Given the description of an element on the screen output the (x, y) to click on. 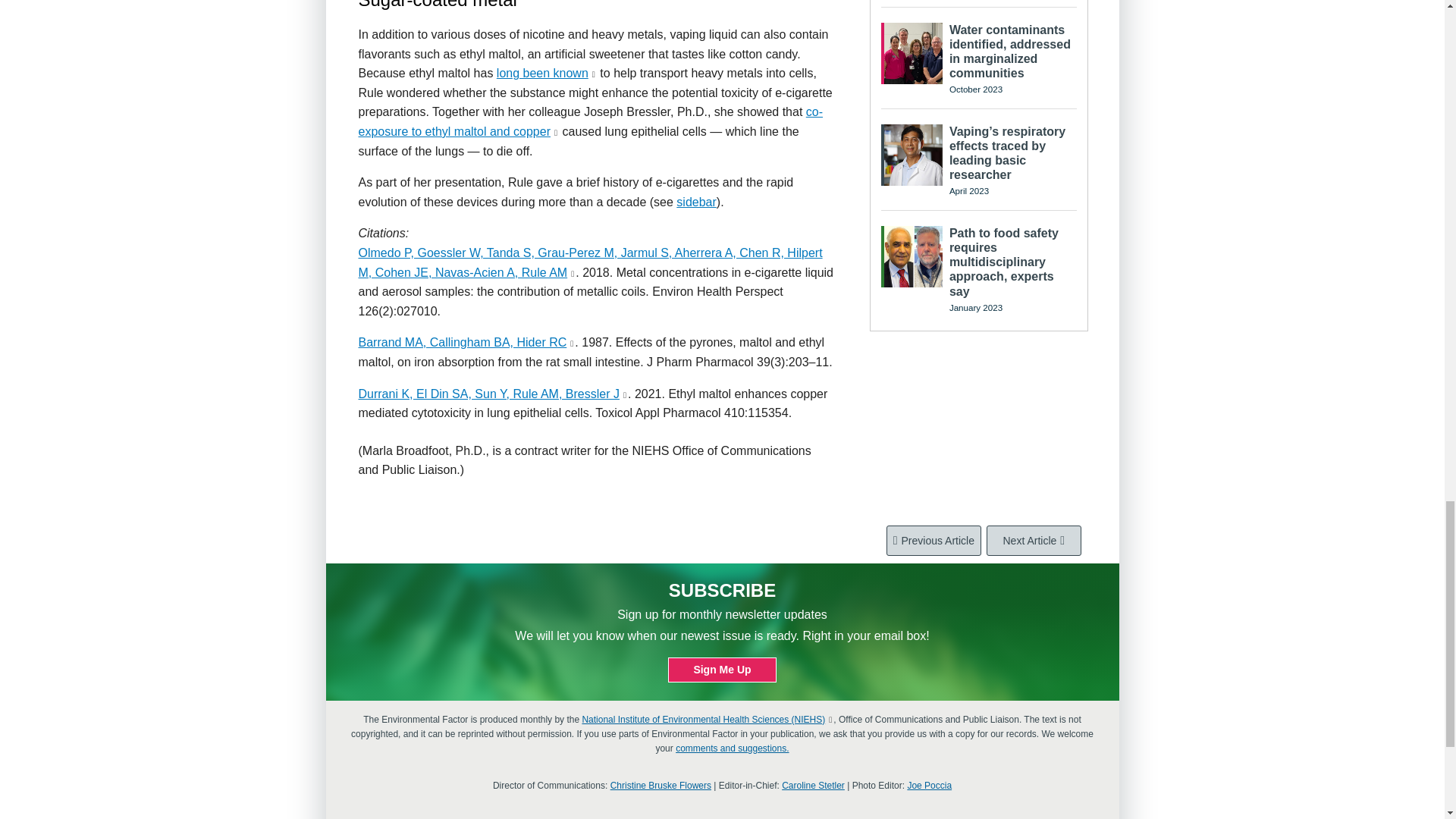
Previous Article (933, 540)
co-exposure to ethyl maltol and copper (590, 121)
Durrani K, El Din SA, Sun Y, Rule AM, Bressler J (488, 393)
Barrand MA, Callingham BA, Hider RC (462, 341)
long been known (542, 72)
sidebar (696, 201)
